Given the description of an element on the screen output the (x, y) to click on. 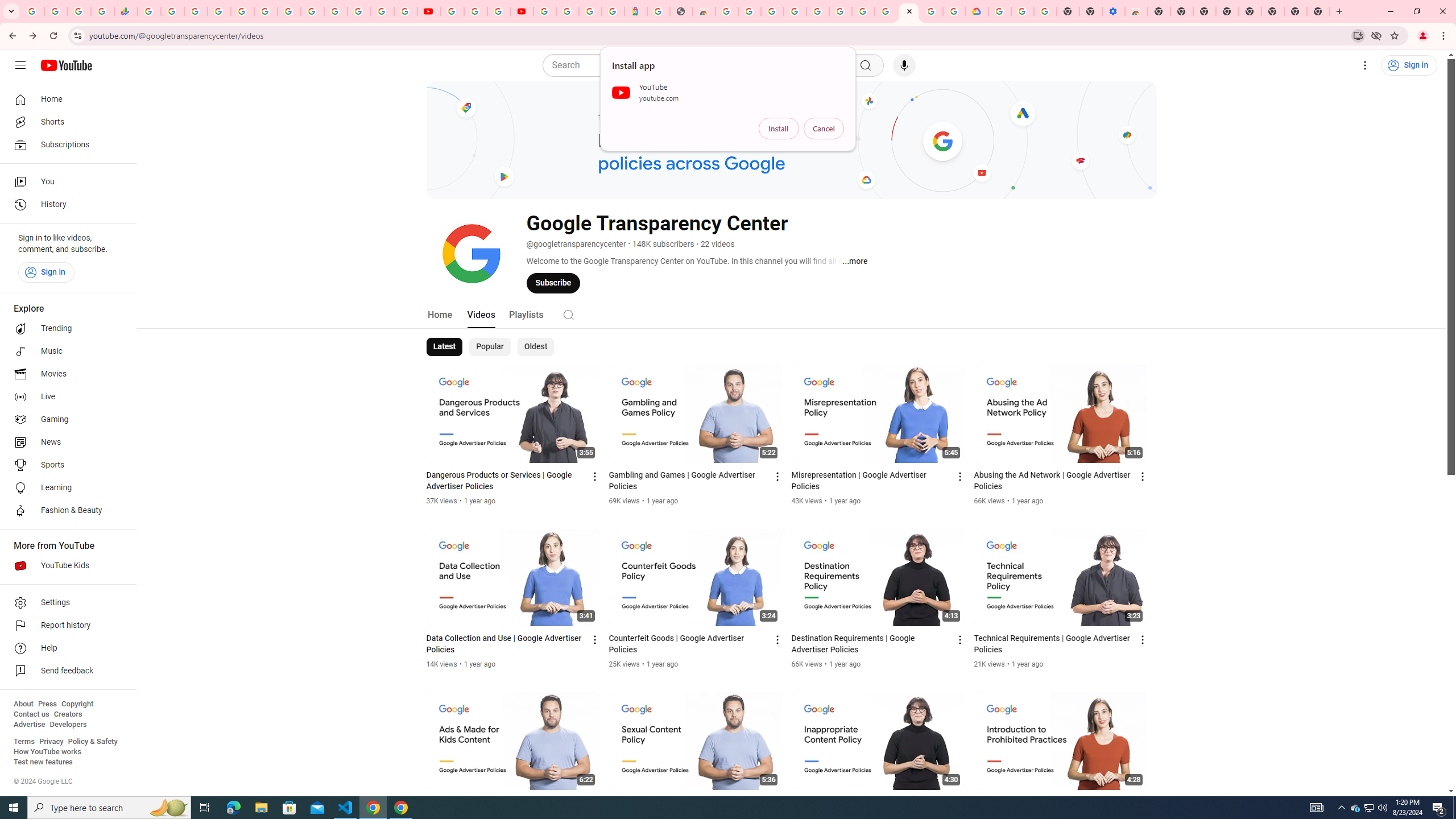
Gaming (64, 419)
Google Workspace Admin Community (32, 11)
Sports (64, 464)
Press (46, 703)
Policy & Safety (91, 741)
Advertise (29, 724)
Search with your voice (903, 65)
How YouTube works (47, 751)
